Given the description of an element on the screen output the (x, y) to click on. 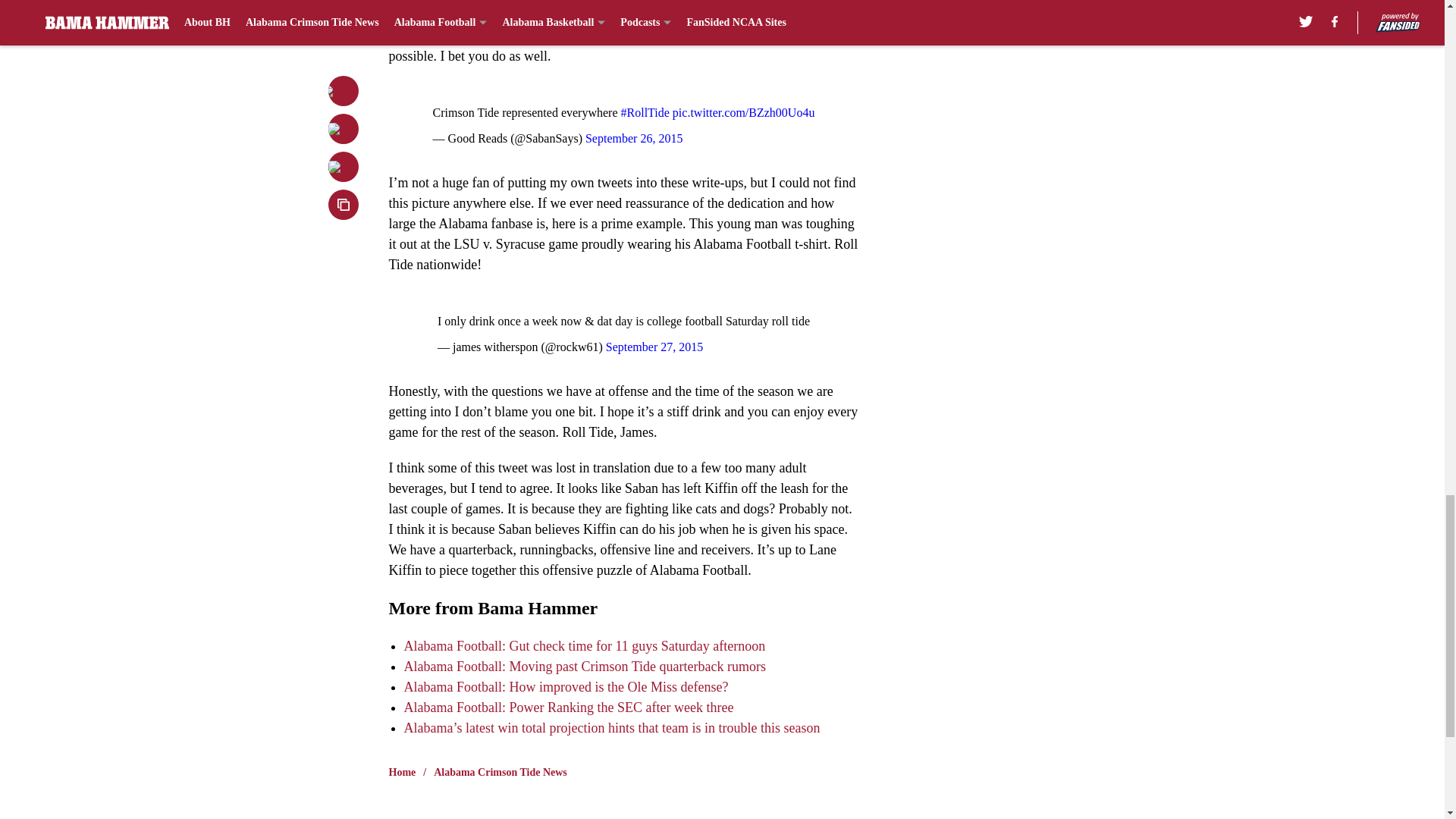
Alabama Football: Power Ranking the SEC after week three (568, 707)
Alabama Football: How improved is the Ole Miss defense? (565, 686)
September 26, 2015 (633, 137)
Home (401, 772)
Alabama Crimson Tide News (500, 772)
September 27, 2015 (654, 346)
